Given the description of an element on the screen output the (x, y) to click on. 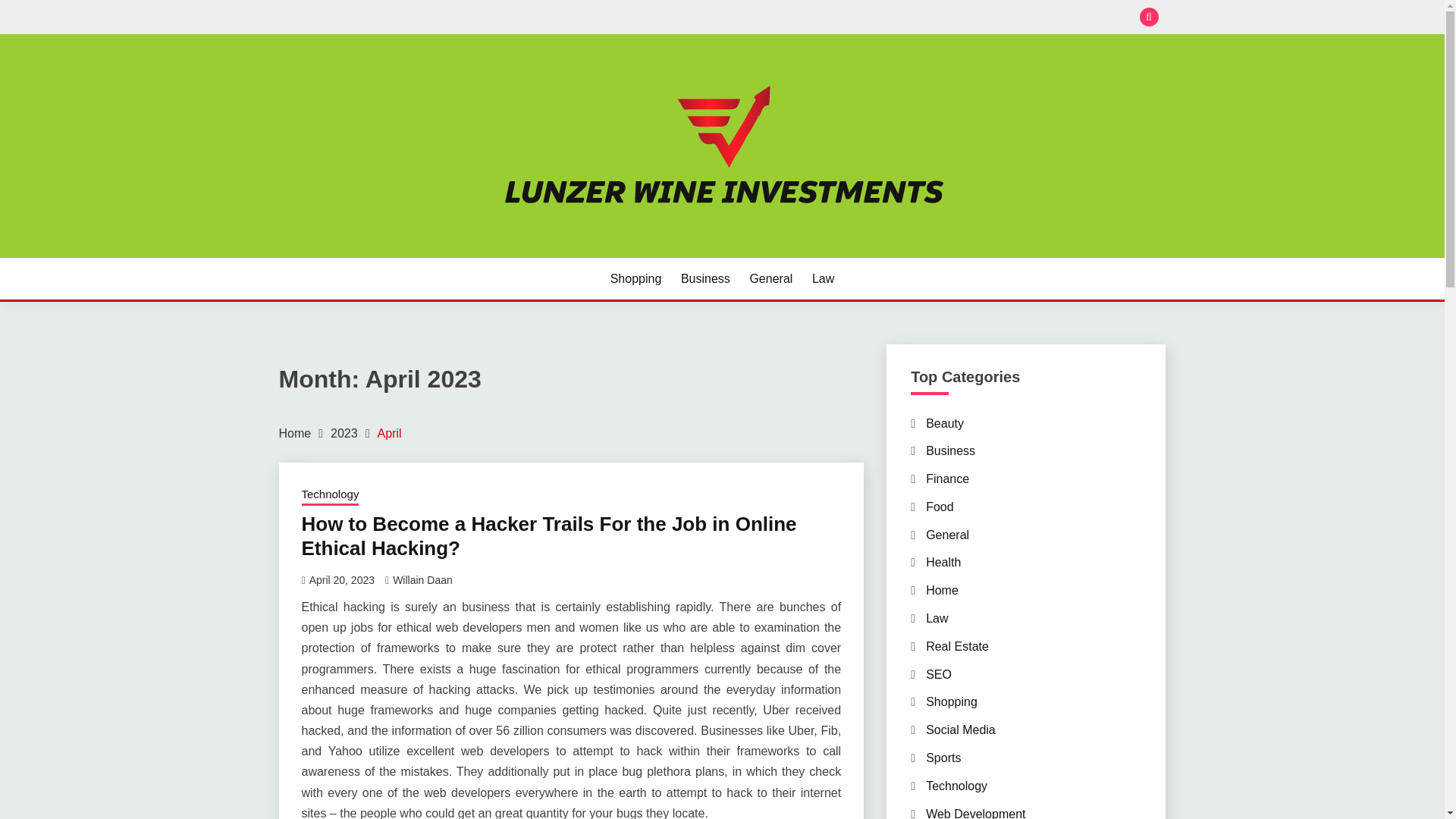
Real Estate (957, 645)
Business (705, 279)
Shopping (636, 279)
Technology (330, 496)
Health (943, 562)
Beauty (944, 422)
Sports (943, 757)
Law (936, 617)
Home (295, 432)
LUNZER WINE INVESTMENTS (478, 255)
Law (823, 279)
Finance (947, 478)
April 20, 2023 (341, 580)
Shopping (951, 701)
General (770, 279)
